Given the description of an element on the screen output the (x, y) to click on. 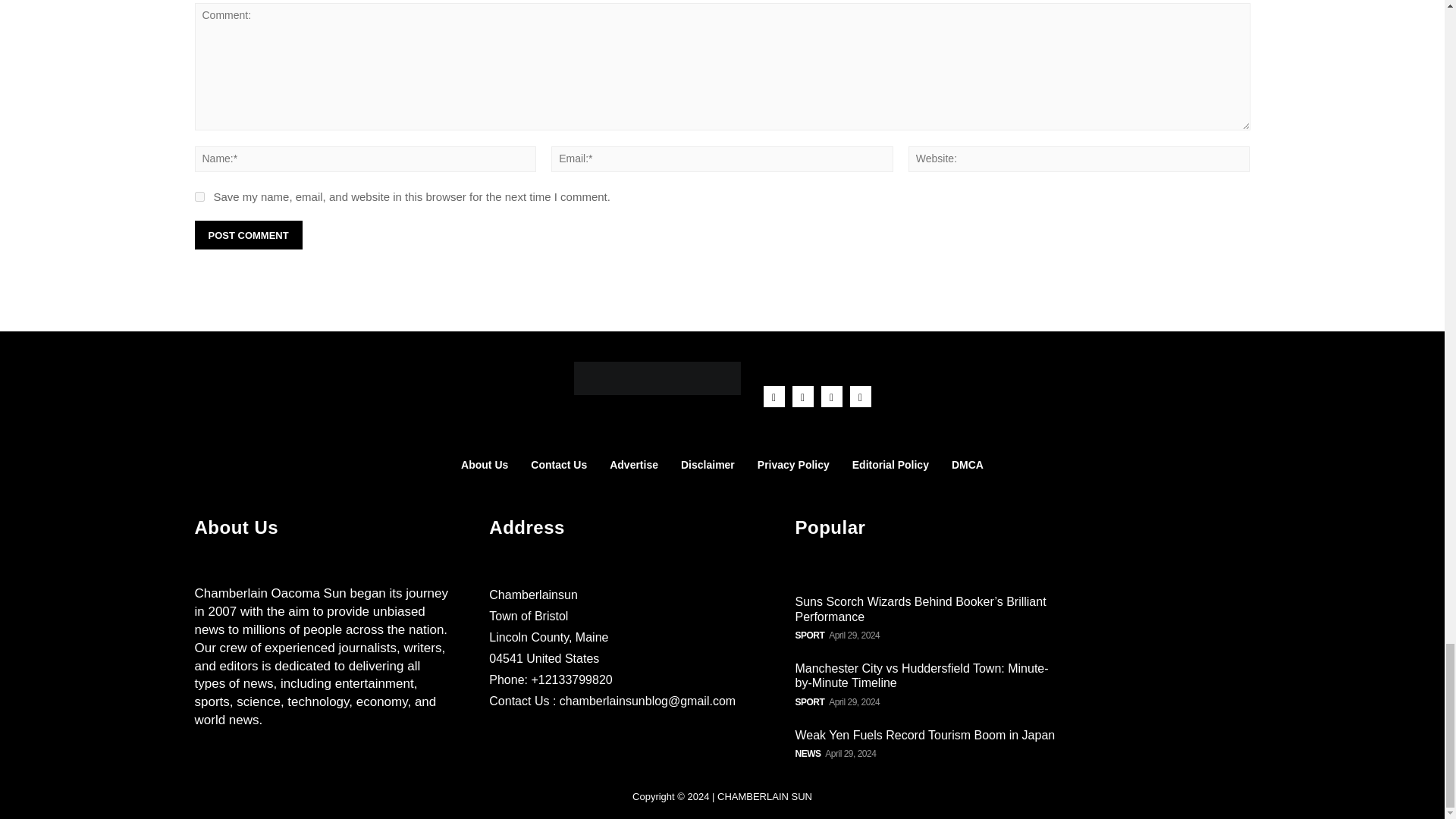
yes (198, 196)
Post Comment (247, 235)
